Given the description of an element on the screen output the (x, y) to click on. 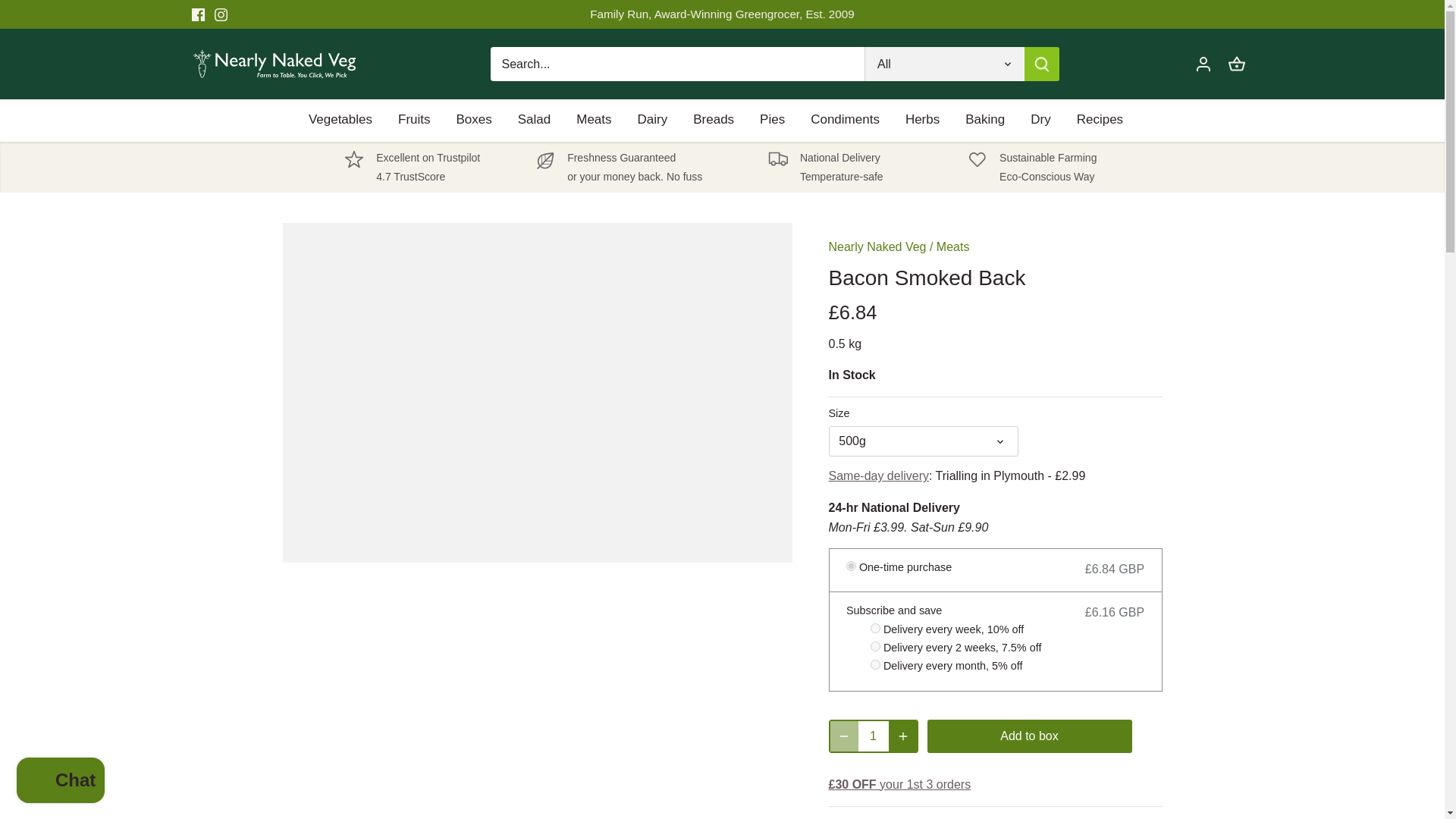
Herbs (922, 120)
Recipes (1099, 120)
on (875, 646)
Facebook (411, 167)
Breads (196, 14)
Fruits (712, 120)
Vegetables (414, 120)
Same day Delivery (346, 120)
